Given the description of an element on the screen output the (x, y) to click on. 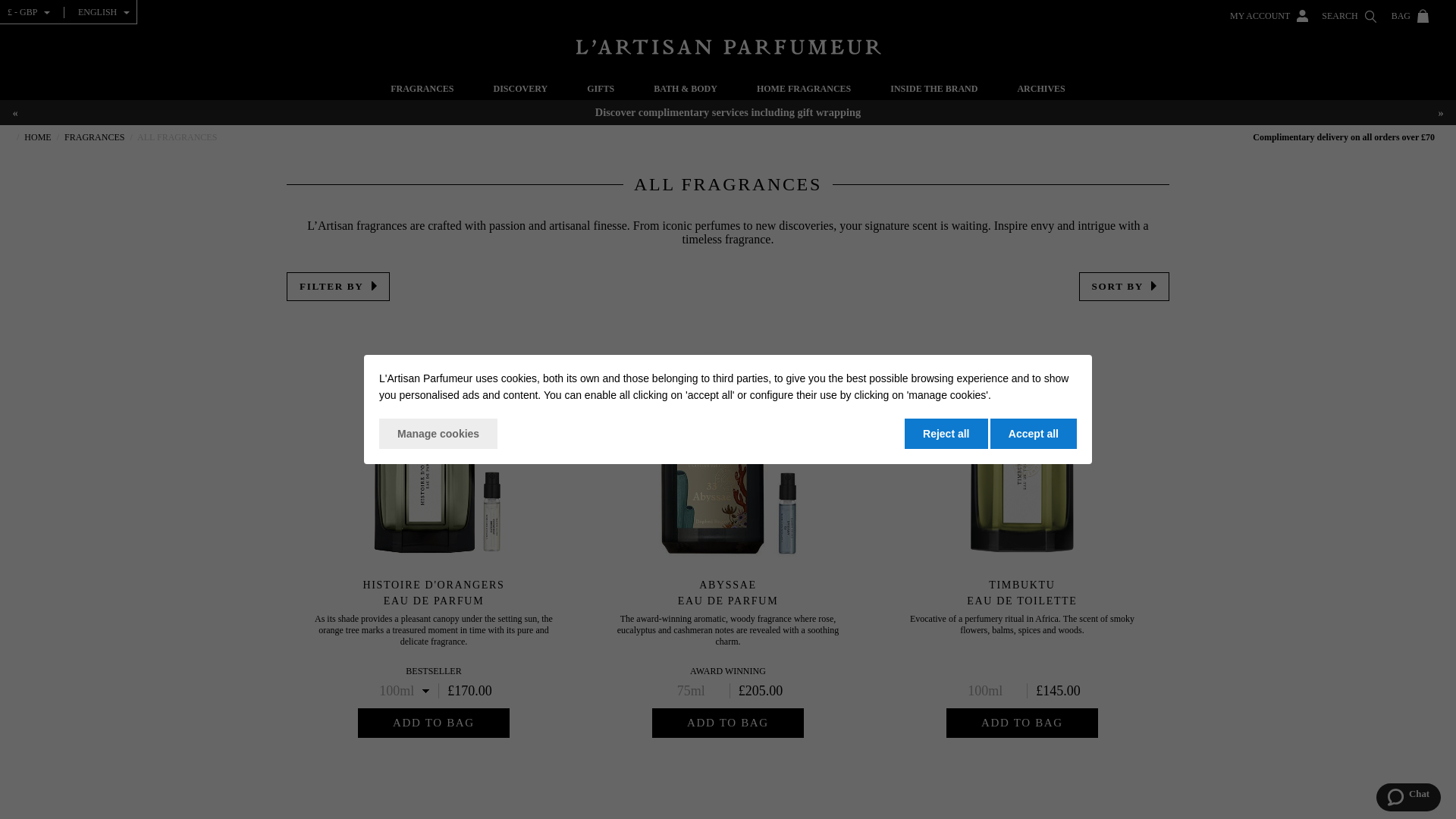
FRAGRANCES (421, 90)
L'Artisan Parfumeur GBP (728, 46)
MY ACCOUNT (1268, 11)
DISCOVERY (520, 90)
